Given the description of an element on the screen output the (x, y) to click on. 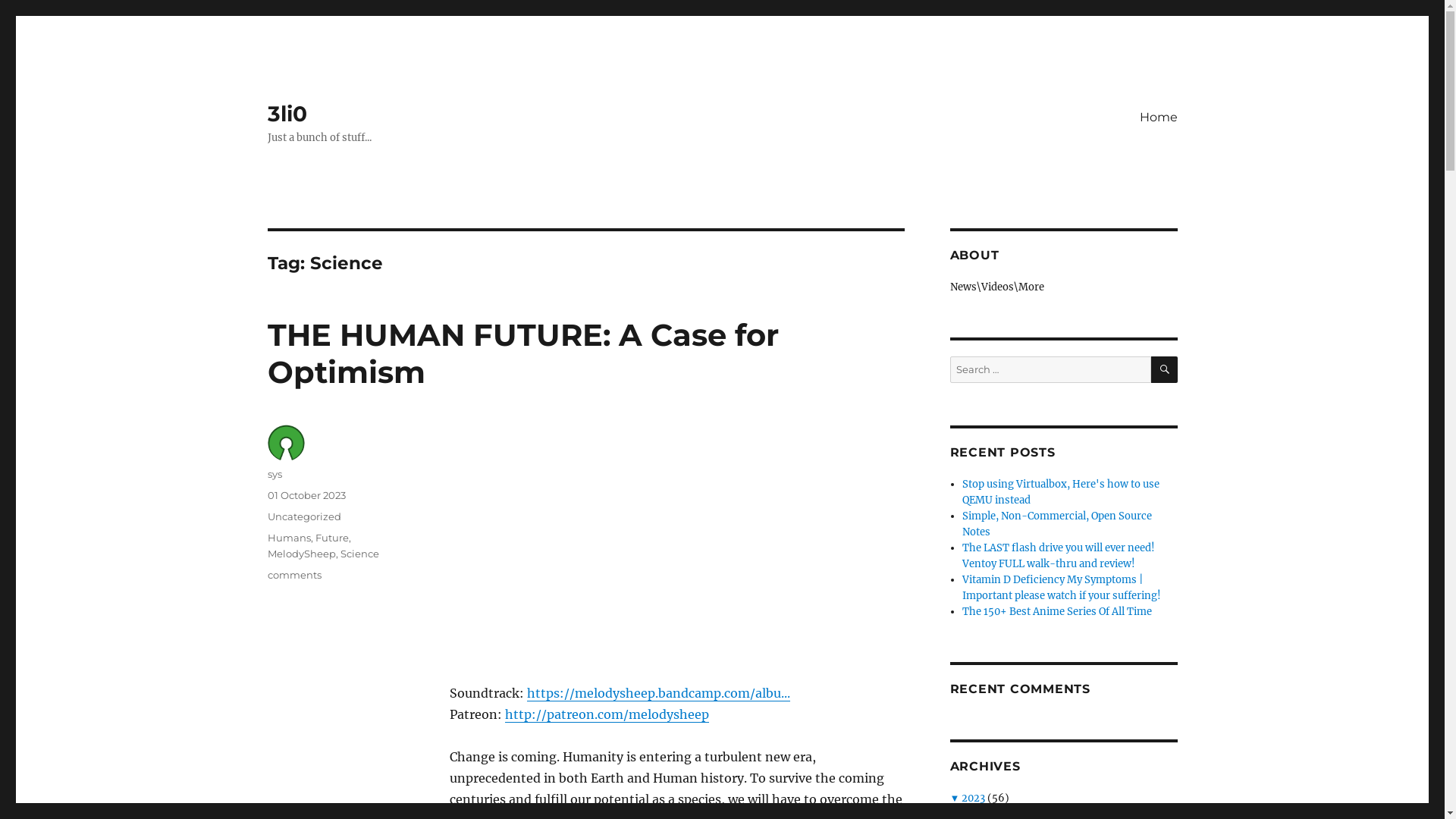
http://patreon.com/melodysheep Element type: text (607, 713)
THE HUMAN FUTURE: A Case for Optimism Element type: text (522, 353)
The 150+ Best Anime Series Of All Time Element type: text (1056, 611)
Science Element type: text (358, 553)
Humans Element type: text (290, 537)
https://melodysheep.bandcamp.com/albu... Element type: text (657, 692)
Search for: Element type: hover (1049, 369)
Stop using Virtualbox, Here's how to use QEMU instead Element type: text (1060, 491)
YouTube video player Element type: hover (660, 541)
SEARCH Element type: text (1164, 369)
Home Element type: text (1157, 116)
01 October 2023 Element type: text (305, 495)
2023 Element type: text (973, 797)
sys Element type: text (273, 473)
Future Element type: text (333, 537)
comments Element type: text (293, 574)
3li0 Element type: text (286, 113)
MelodySheep Element type: text (302, 553)
Simple, Non-Commercial, Open Source Notes Element type: text (1056, 523)
Uncategorized Element type: text (303, 516)
